Given the description of an element on the screen output the (x, y) to click on. 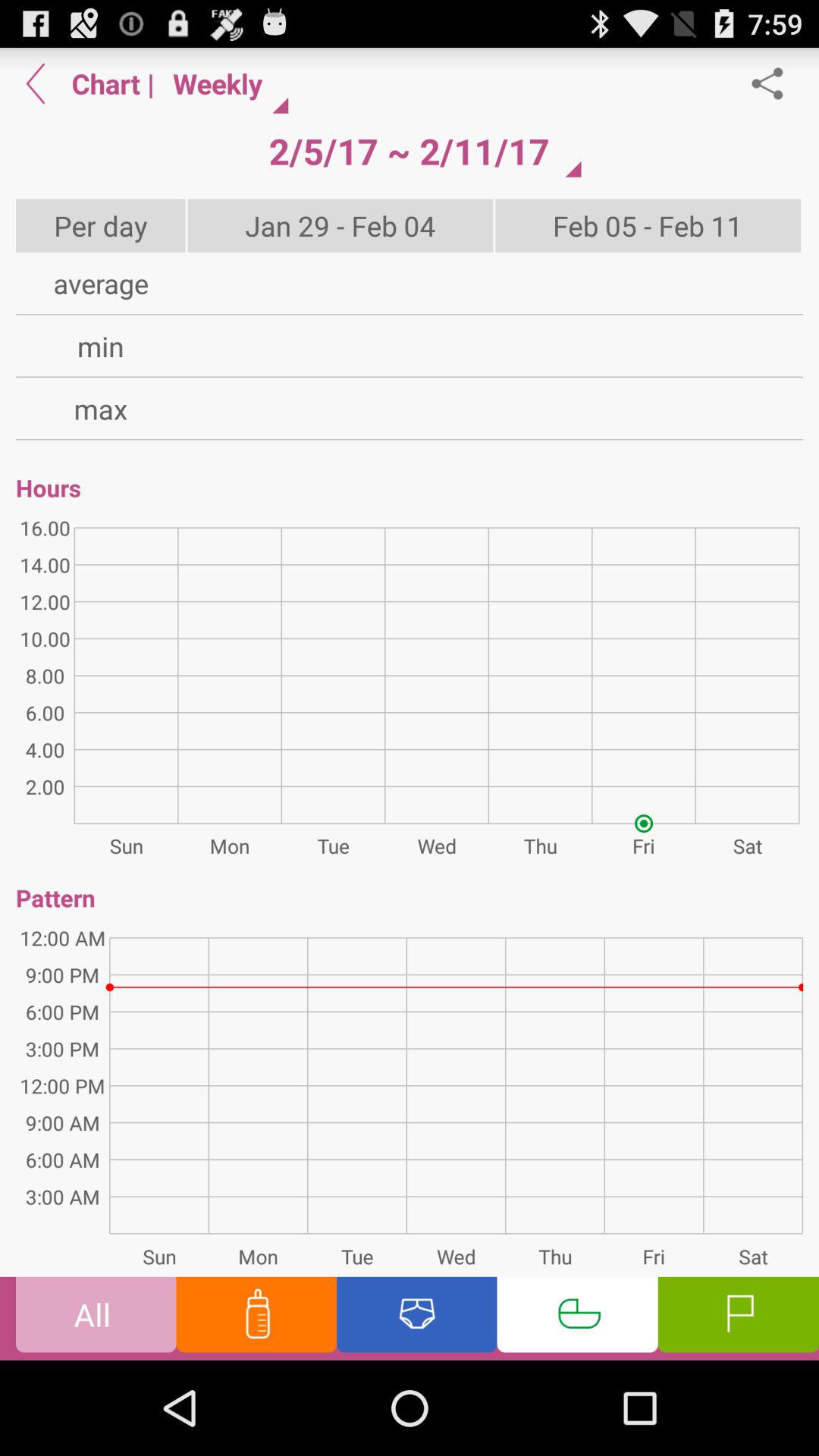
turn off the 2 5 17 button (409, 151)
